Given the description of an element on the screen output the (x, y) to click on. 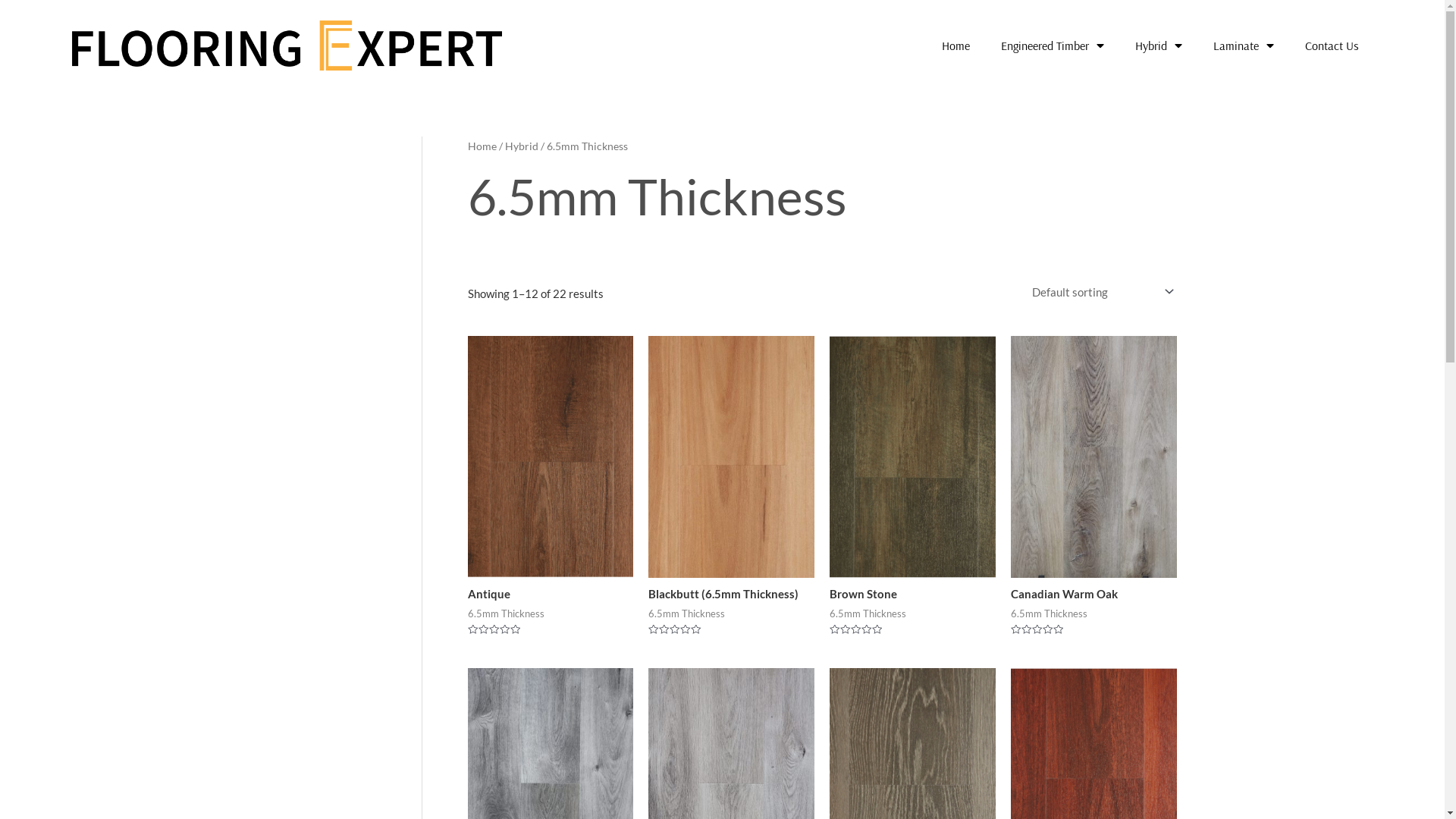
Home Element type: text (955, 45)
Hybrid Element type: text (1158, 45)
Hybrid Element type: text (521, 145)
Antique Element type: text (550, 594)
Contact Us Element type: text (1331, 45)
Laminate Element type: text (1243, 45)
Engineered Timber Element type: text (1052, 45)
Home Element type: text (481, 145)
Brown Stone Element type: text (912, 594)
Canadian Warm Oak Element type: text (1093, 594)
Blackbutt (6.5mm Thickness) Element type: text (731, 594)
